Given the description of an element on the screen output the (x, y) to click on. 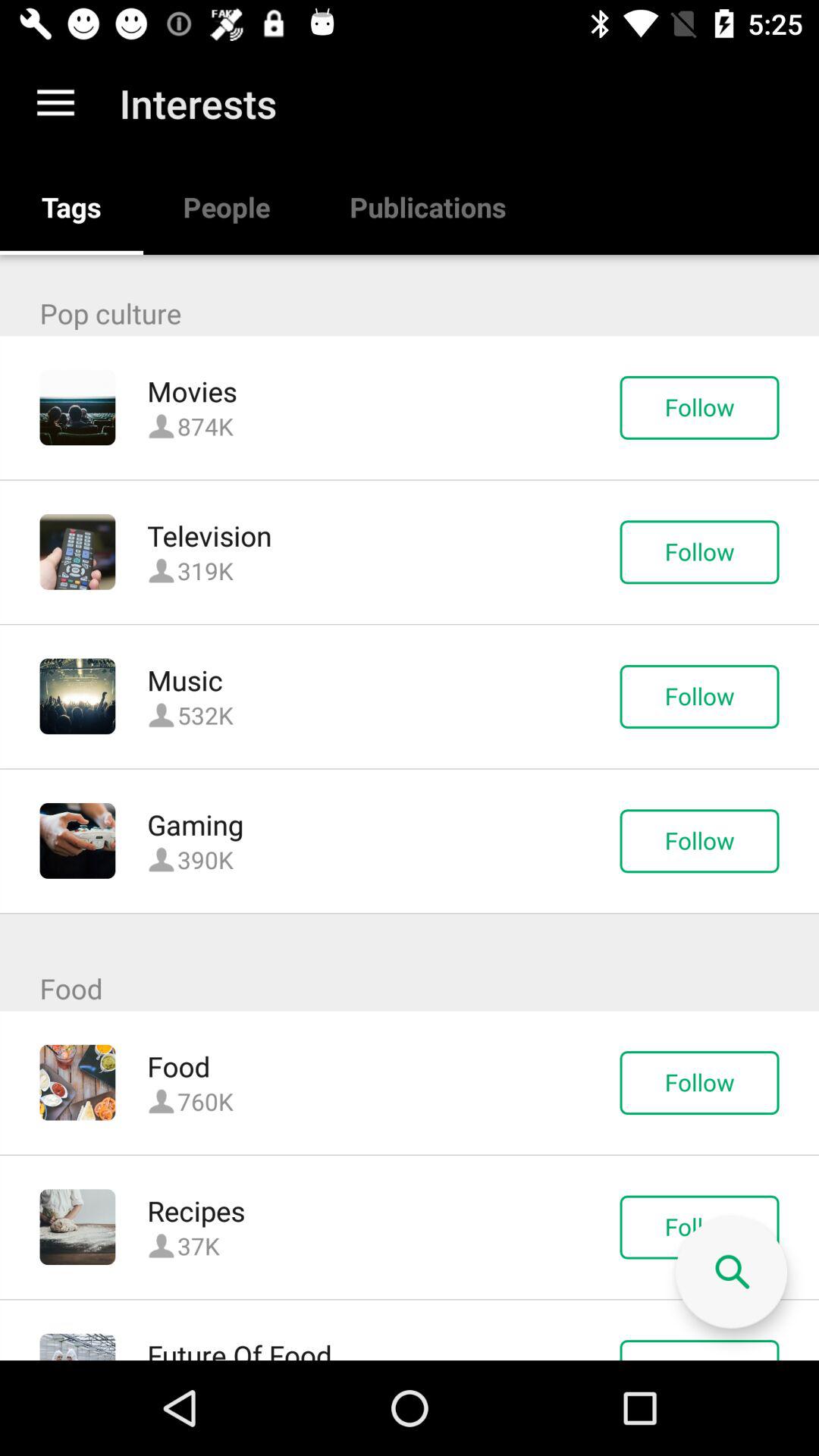
search button (731, 1272)
